Given the description of an element on the screen output the (x, y) to click on. 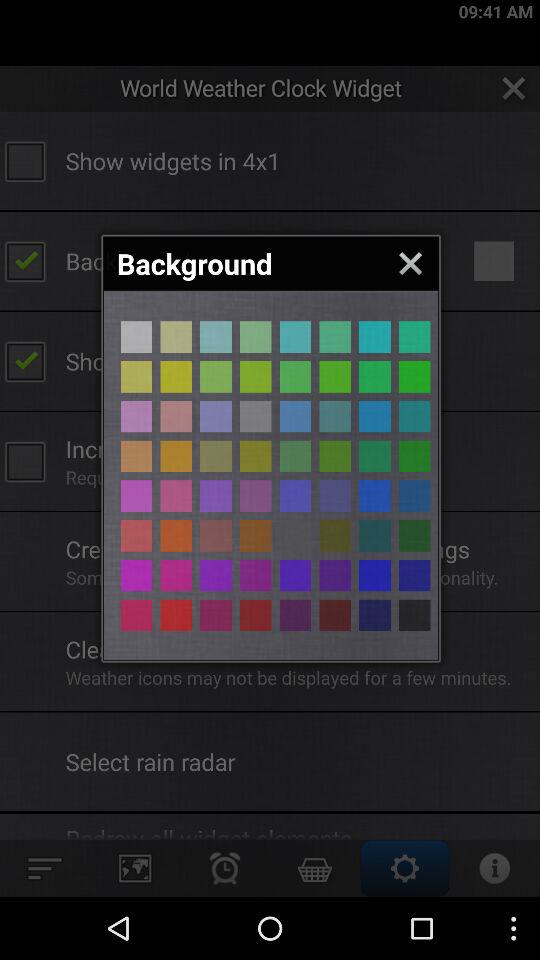
select orange background color (176, 456)
